Given the description of an element on the screen output the (x, y) to click on. 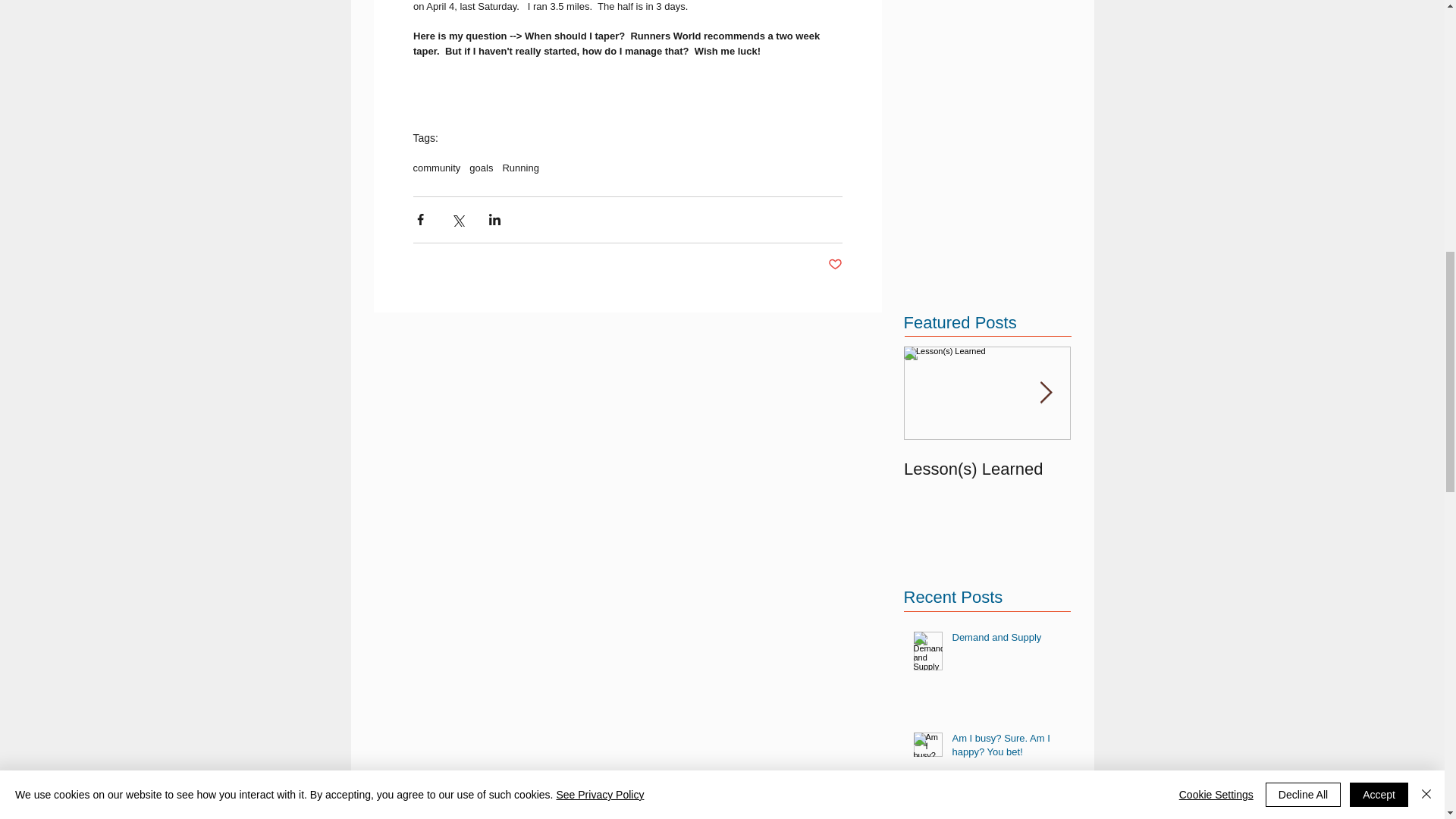
community (436, 167)
Demand and Supply (1006, 640)
goals (480, 167)
Post not marked as liked (835, 264)
Am I busy? Sure. Am I happy? You bet! (1006, 748)
Running (520, 167)
Dogs vs. Daffodils (1153, 469)
